Given the description of an element on the screen output the (x, y) to click on. 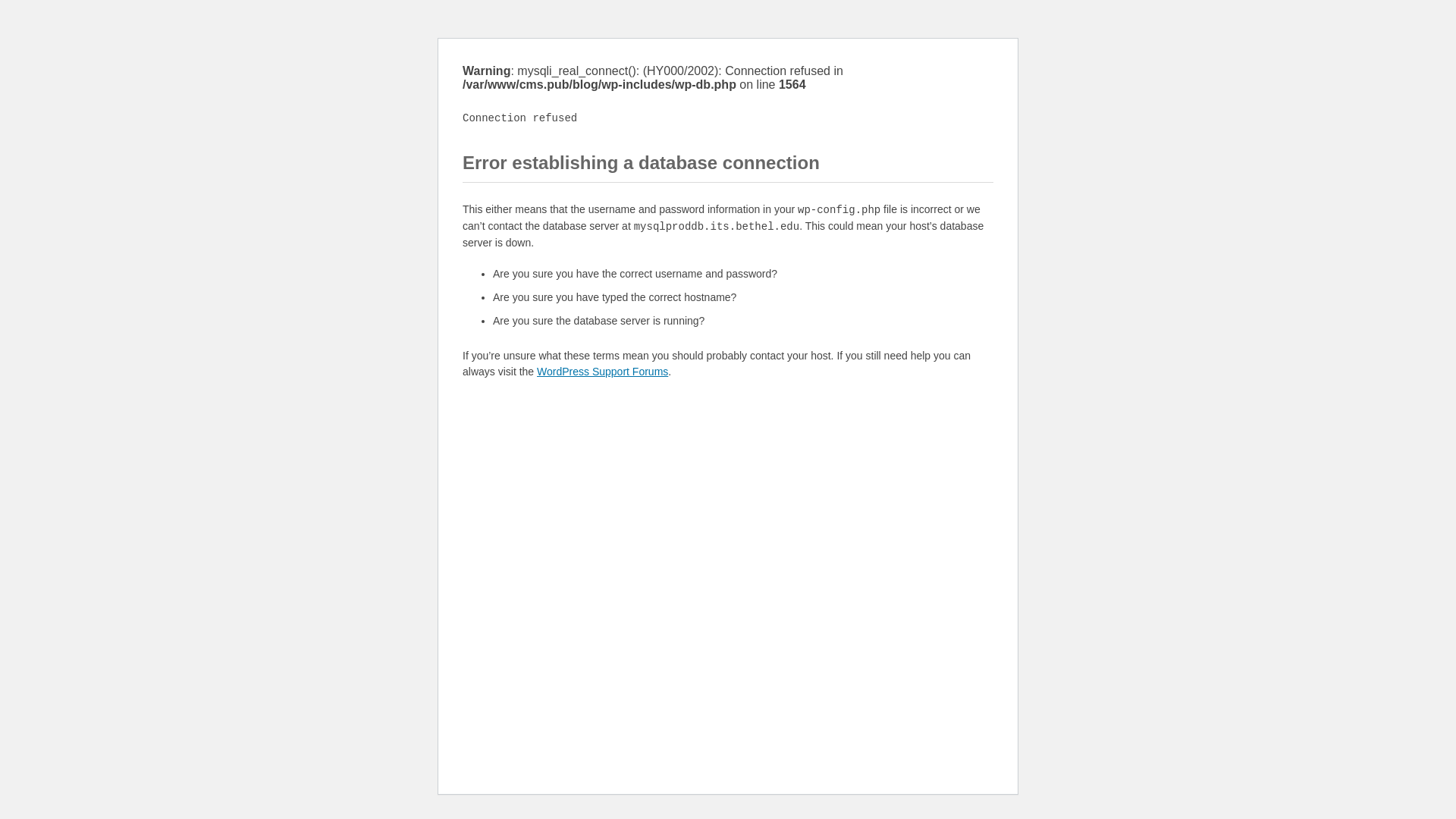
WordPress Support Forums (602, 371)
